Given the description of an element on the screen output the (x, y) to click on. 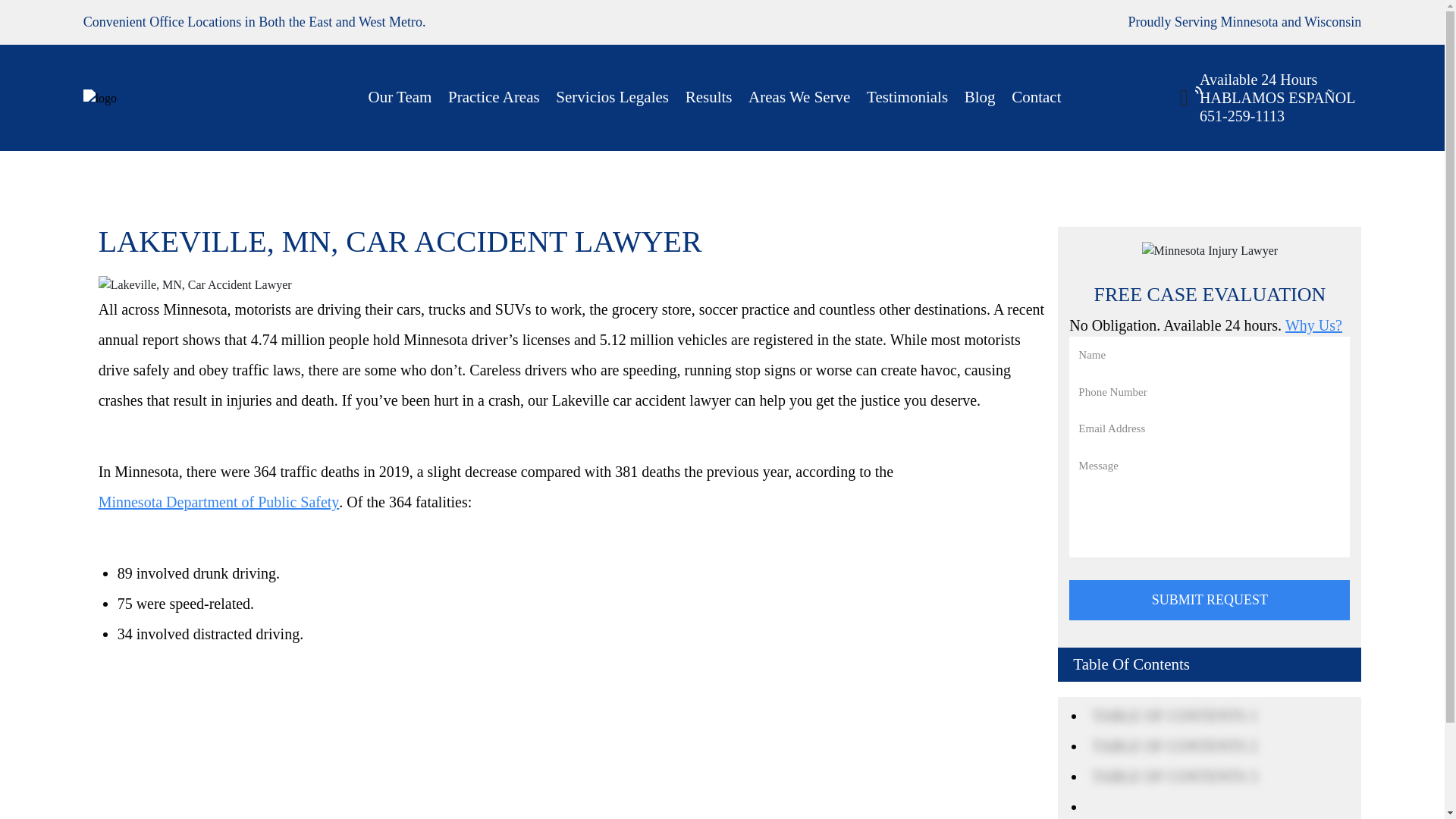
Practice Areas (494, 97)
Submit Request (1208, 599)
Areas We Serve (799, 97)
Servicios Legales (612, 97)
